Given the description of an element on the screen output the (x, y) to click on. 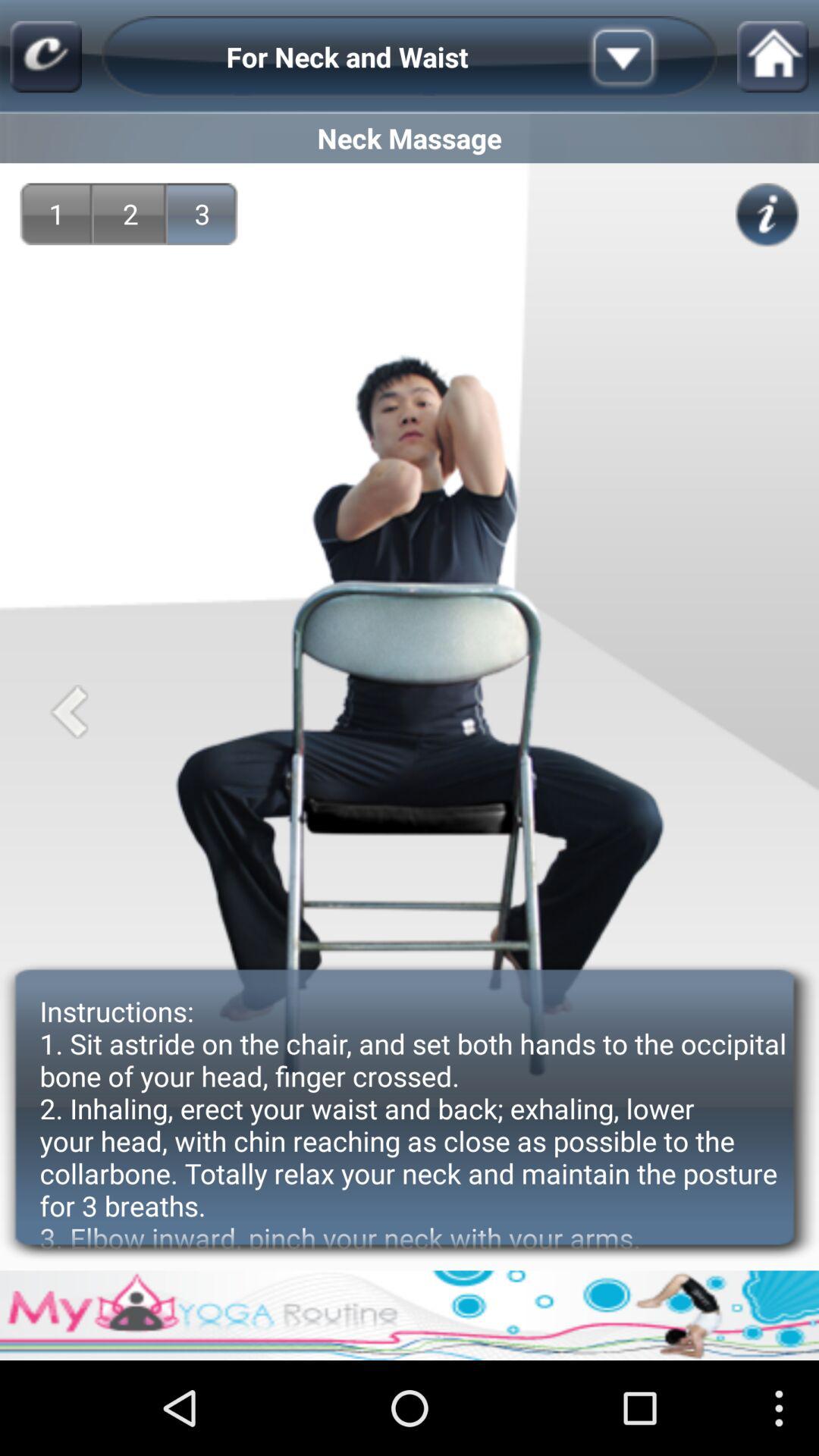
choose item above the neck massage item (45, 56)
